Given the description of an element on the screen output the (x, y) to click on. 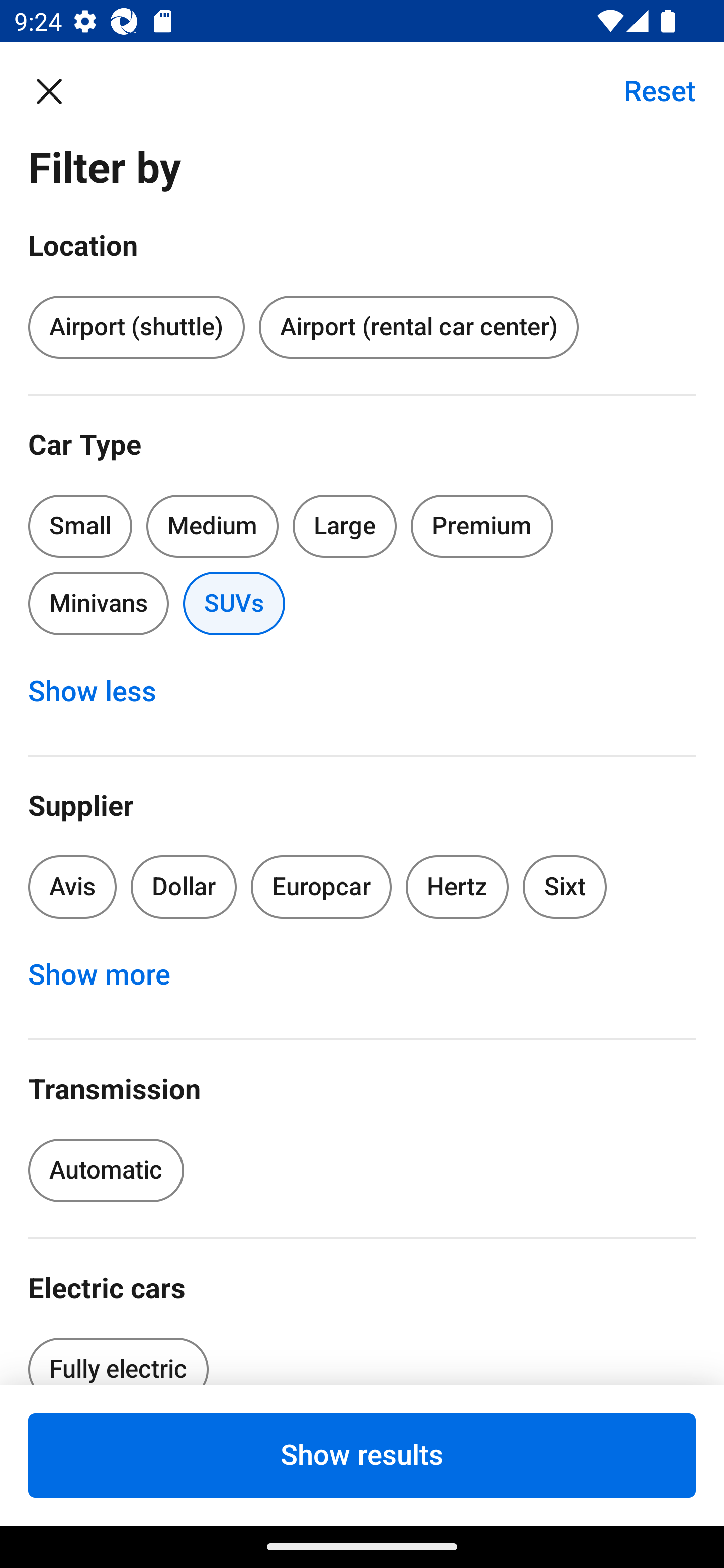
Close (59, 90)
Reset (649, 90)
Airport (shuttle) (136, 327)
Airport (rental car center) (418, 327)
Small (80, 525)
Medium (212, 525)
Large (344, 525)
Premium (482, 525)
Minivans (98, 603)
Show less (102, 691)
Avis (72, 887)
Dollar (183, 887)
Europcar (321, 887)
Hertz (457, 887)
Sixt (564, 887)
Show more (109, 974)
Automatic (105, 1170)
Fully electric (118, 1355)
Show results (361, 1454)
